Given the description of an element on the screen output the (x, y) to click on. 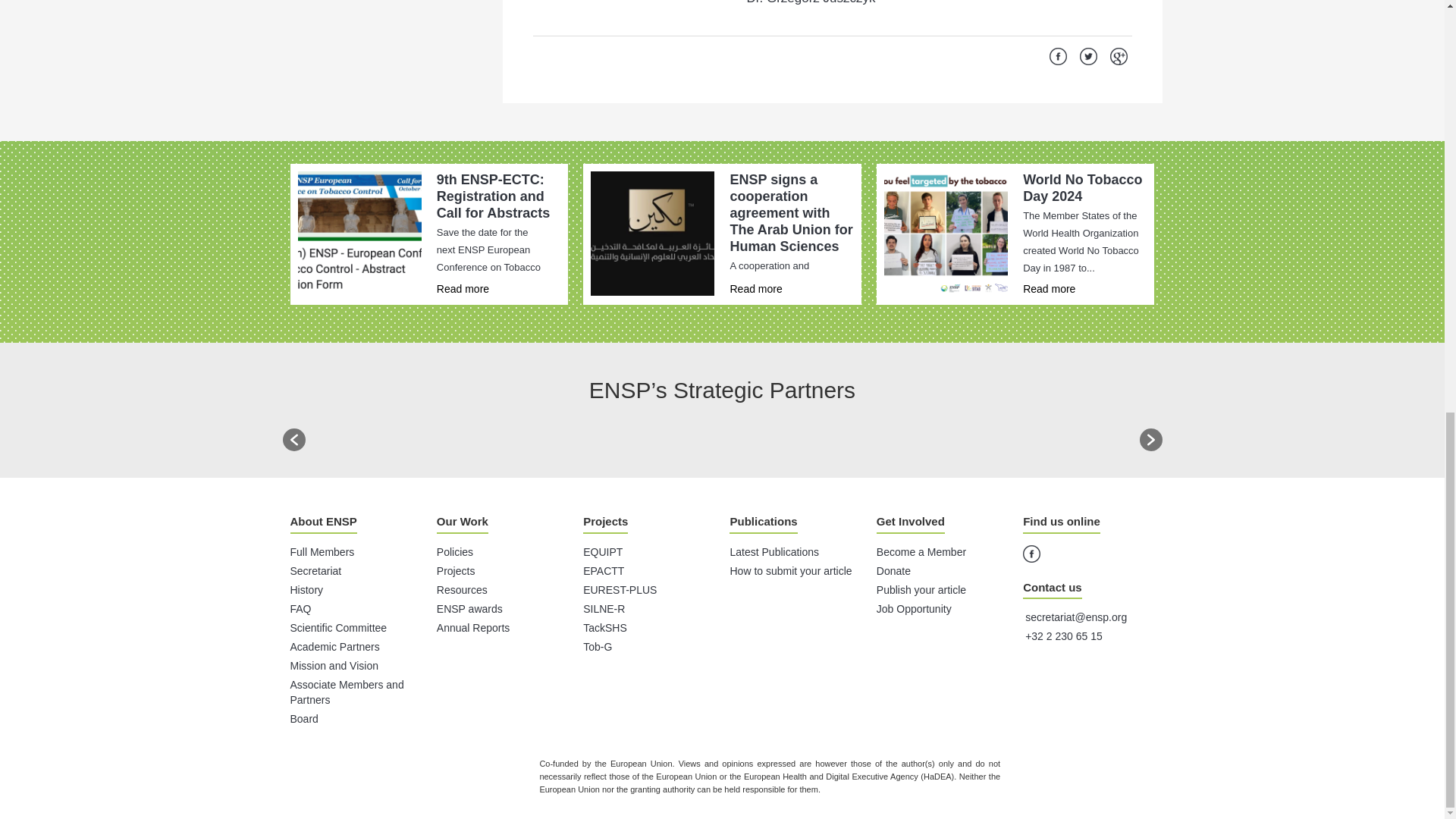
Policies (454, 551)
SILNE-R (603, 608)
EPACTT (603, 571)
Projects (456, 571)
Scientific Committee (338, 627)
TackSHS (605, 627)
Full Members (321, 551)
Board (303, 718)
History (306, 589)
Mission and Vision (333, 665)
Resources (461, 589)
EQUIPT (603, 551)
Associate Members and Partners (346, 691)
Annual Reports (473, 627)
EUREST-PLUS (619, 589)
